Given the description of an element on the screen output the (x, y) to click on. 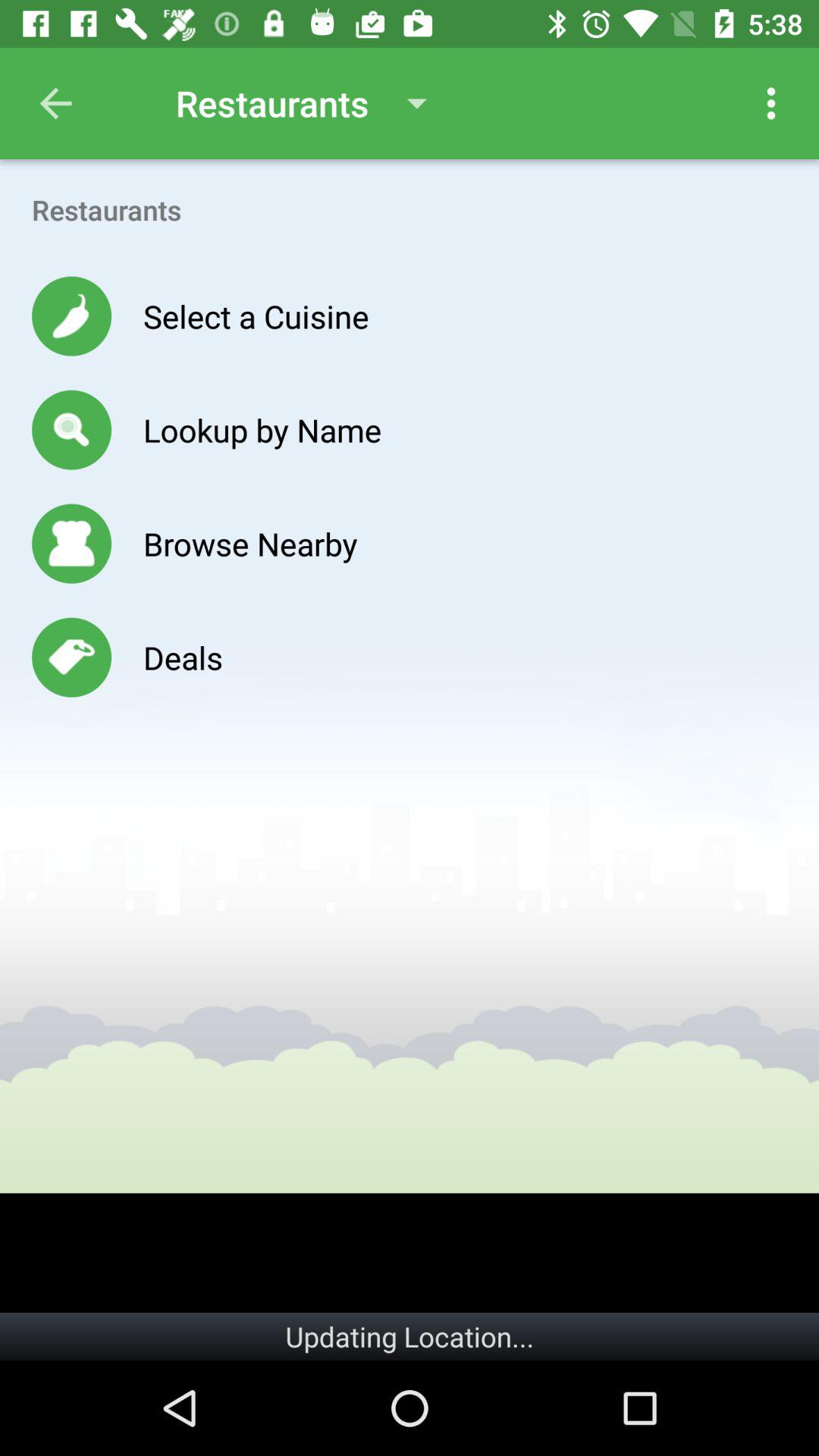
click on the tag icon (71, 657)
click on the icon left to the text select a cuisine (71, 316)
select the button which is top right corner of page (771, 103)
select the symbol which is to the immediate left of browse nearby (71, 543)
